Given the description of an element on the screen output the (x, y) to click on. 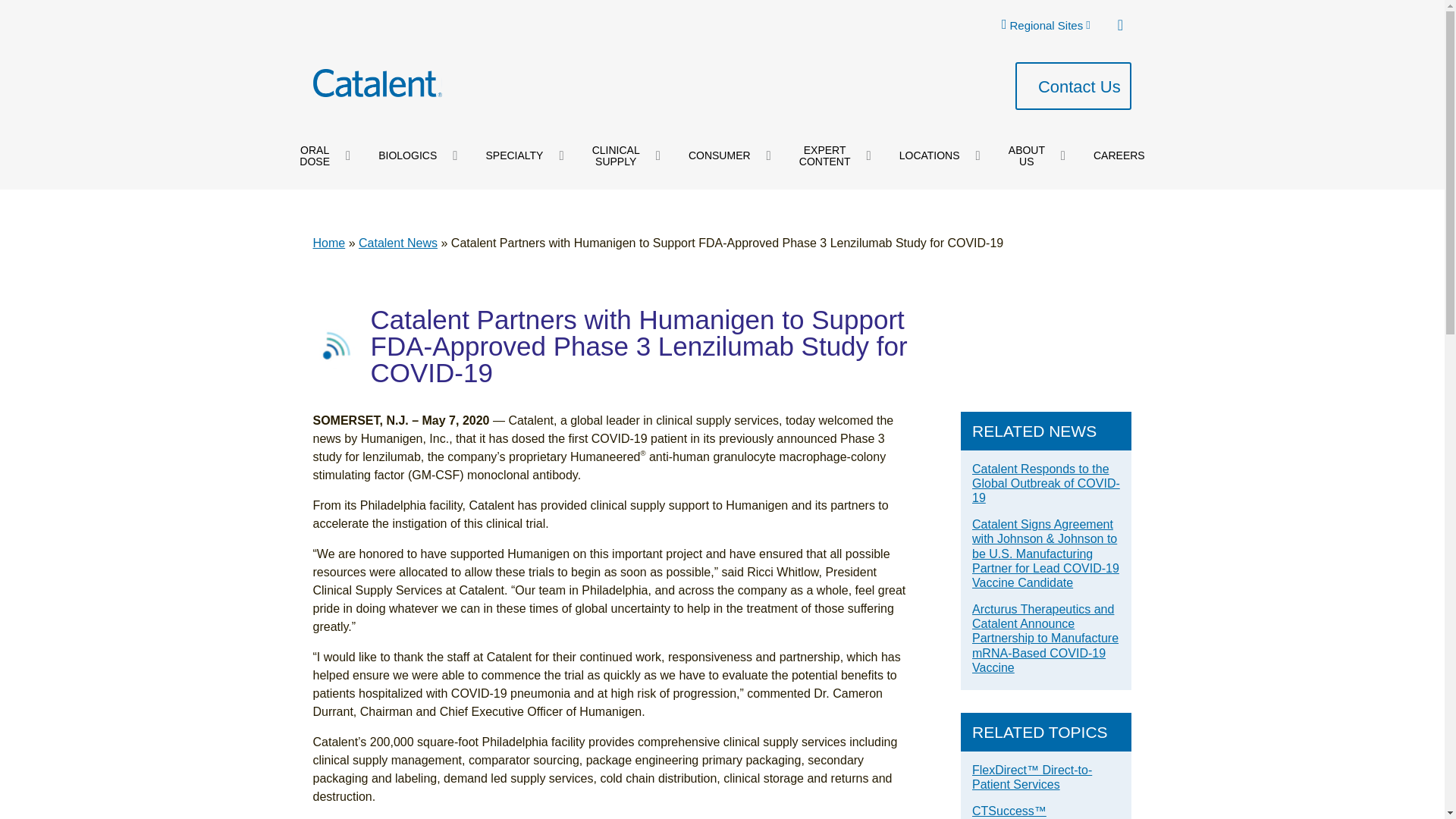
Regional Sites (1045, 24)
OralDose (314, 156)
Contact Us (1073, 85)
Contact Us (1073, 85)
Home page (377, 82)
